Given the description of an element on the screen output the (x, y) to click on. 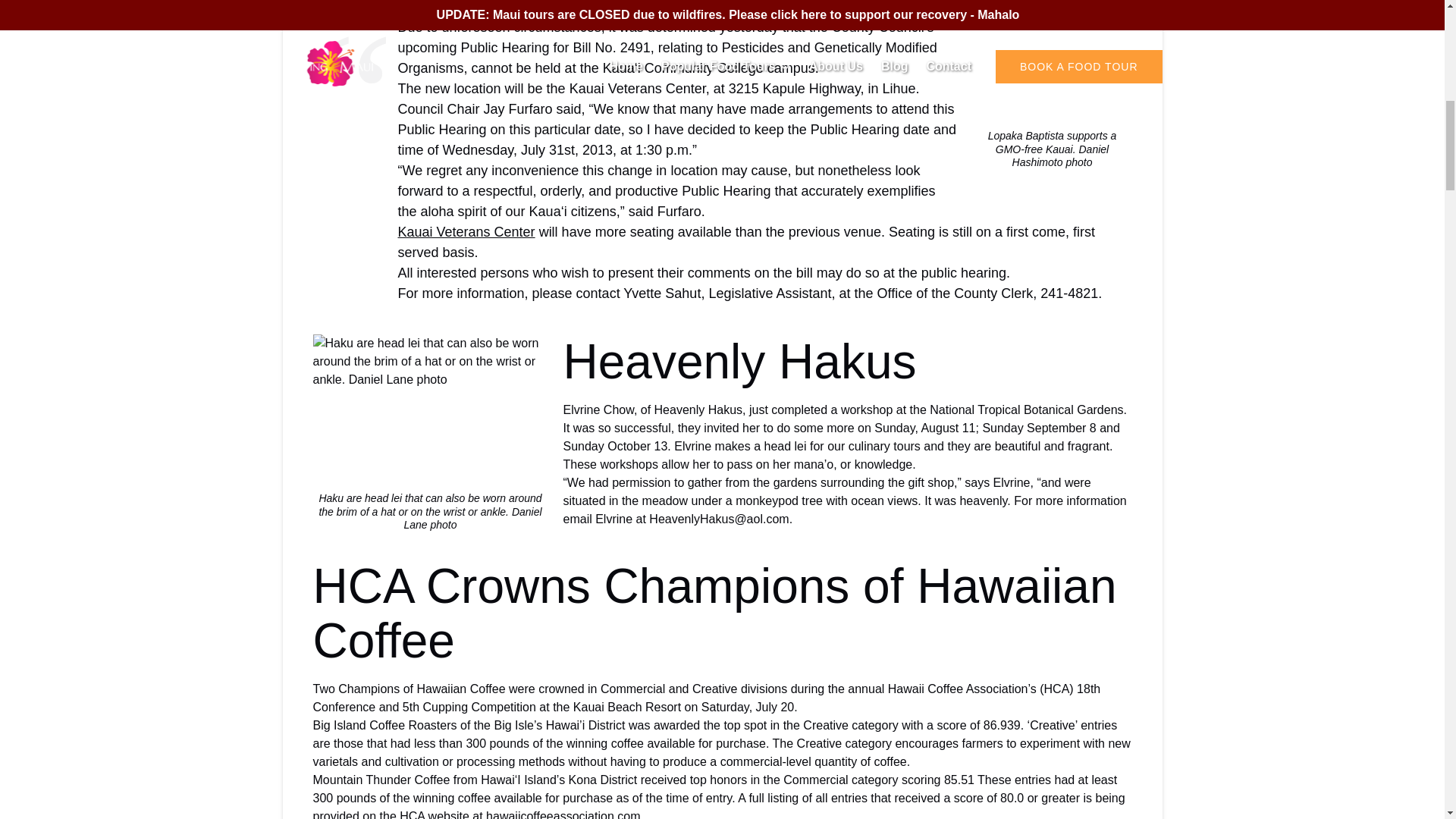
hawaiicoffeeassociation.com (563, 814)
FareHarbor (1342, 64)
Kauai Veterans Center (465, 231)
